Given the description of an element on the screen output the (x, y) to click on. 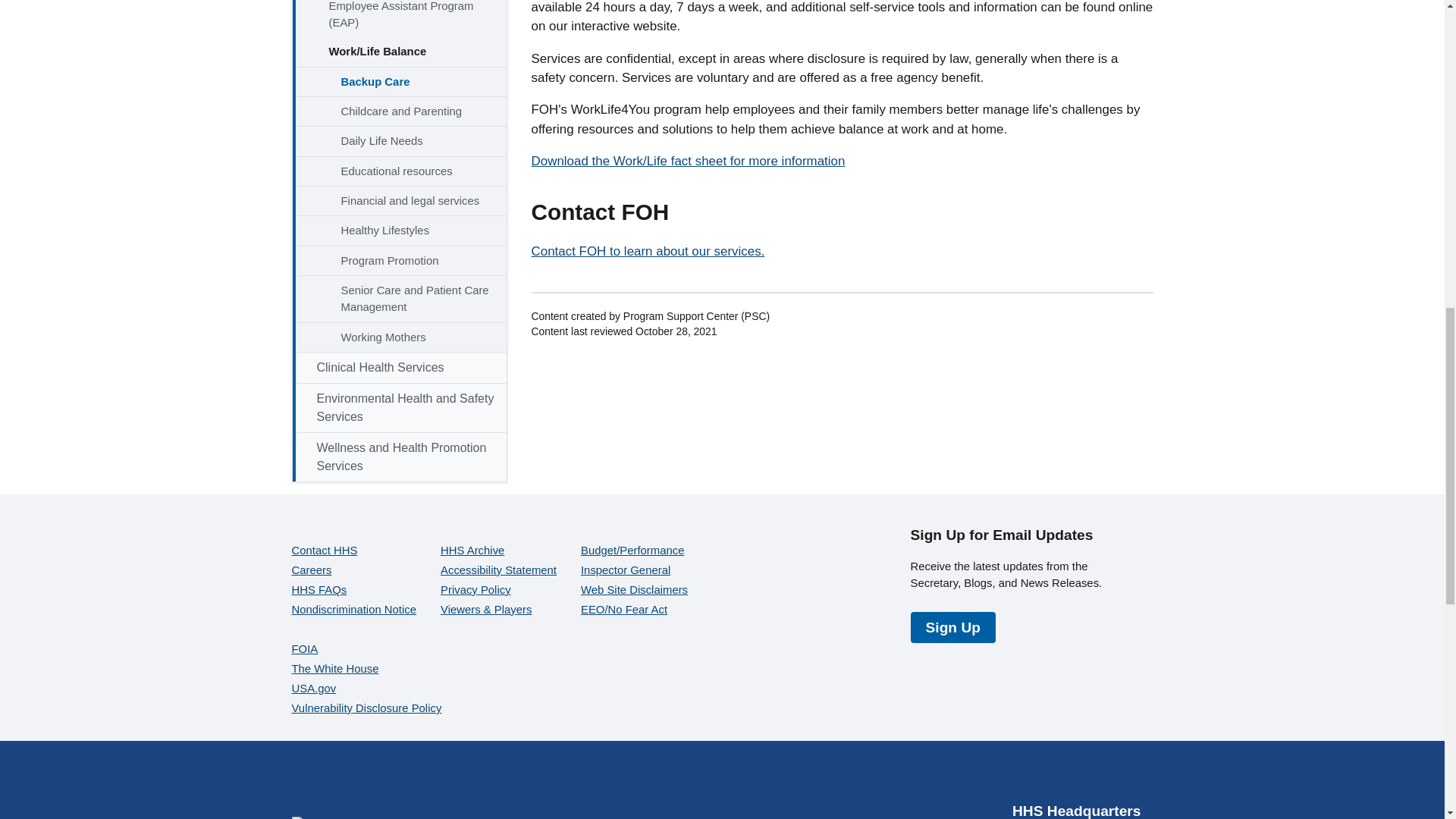
Visit the HHS YouTube account (1055, 776)
Visit the HHS X account (1018, 776)
Visit the HHS LinkedIn account (1128, 776)
Visit the HHS Facebook account (982, 776)
Visit the HHS Instagram account (1091, 776)
